Given the description of an element on the screen output the (x, y) to click on. 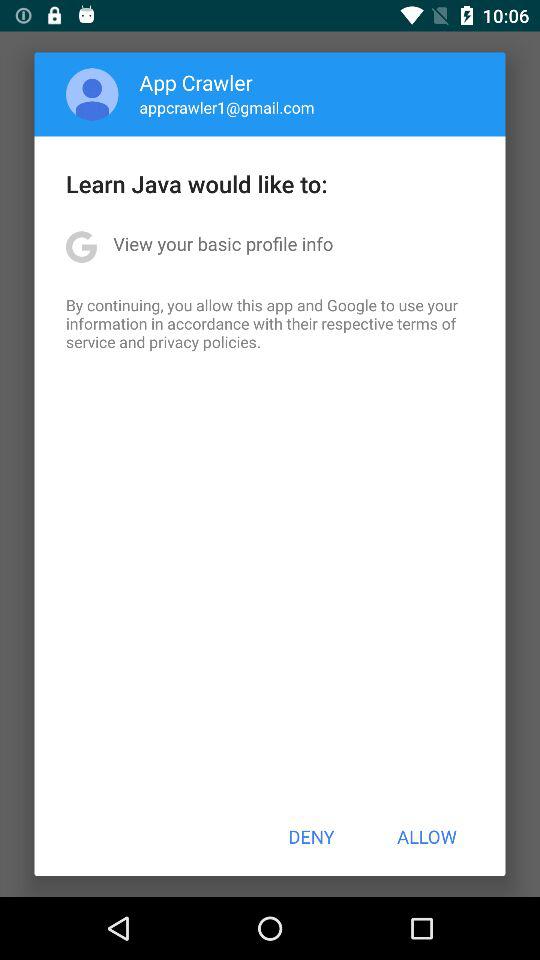
select the item below the learn java would app (223, 243)
